Given the description of an element on the screen output the (x, y) to click on. 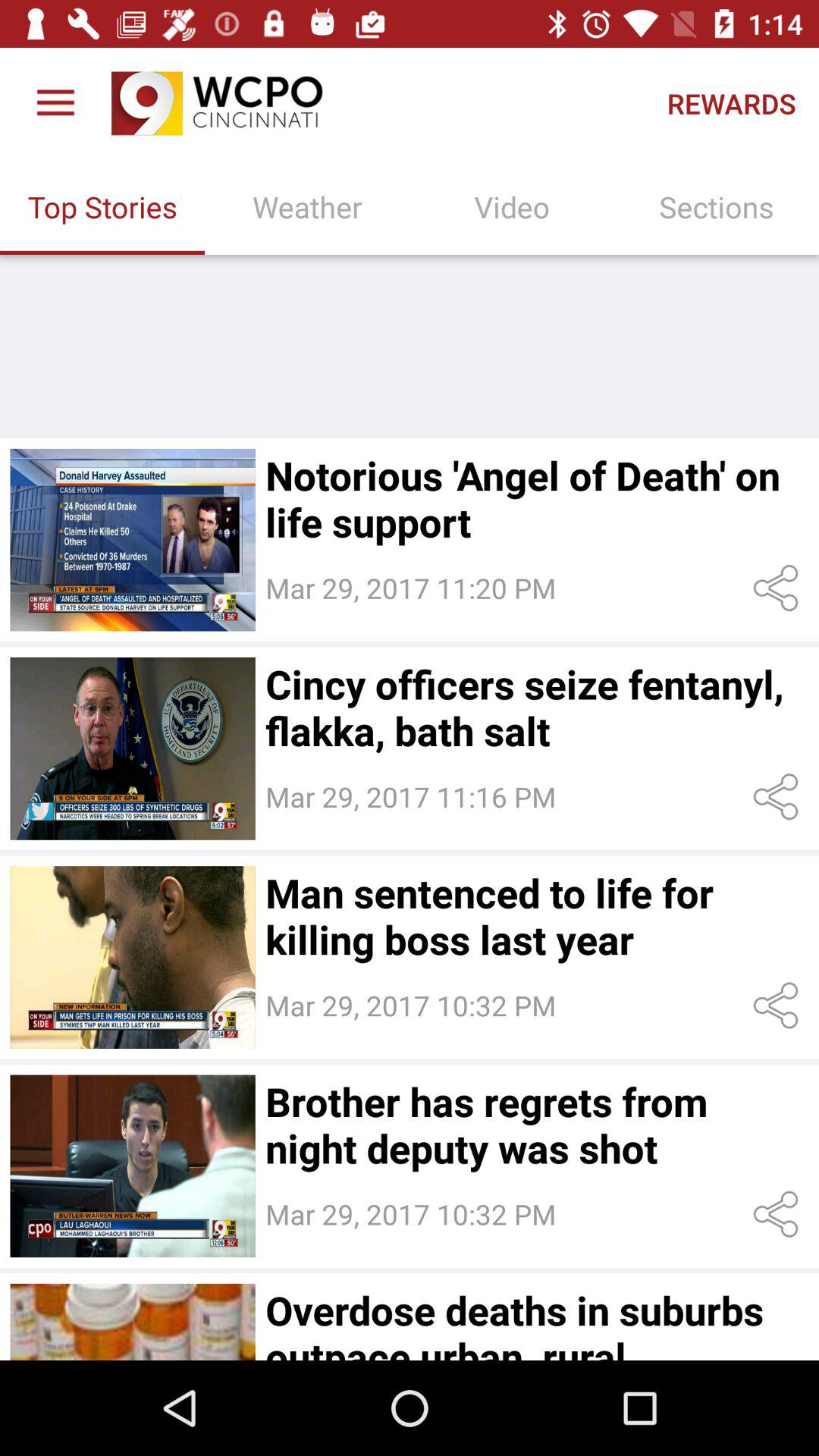
share the article (778, 1214)
